Given the description of an element on the screen output the (x, y) to click on. 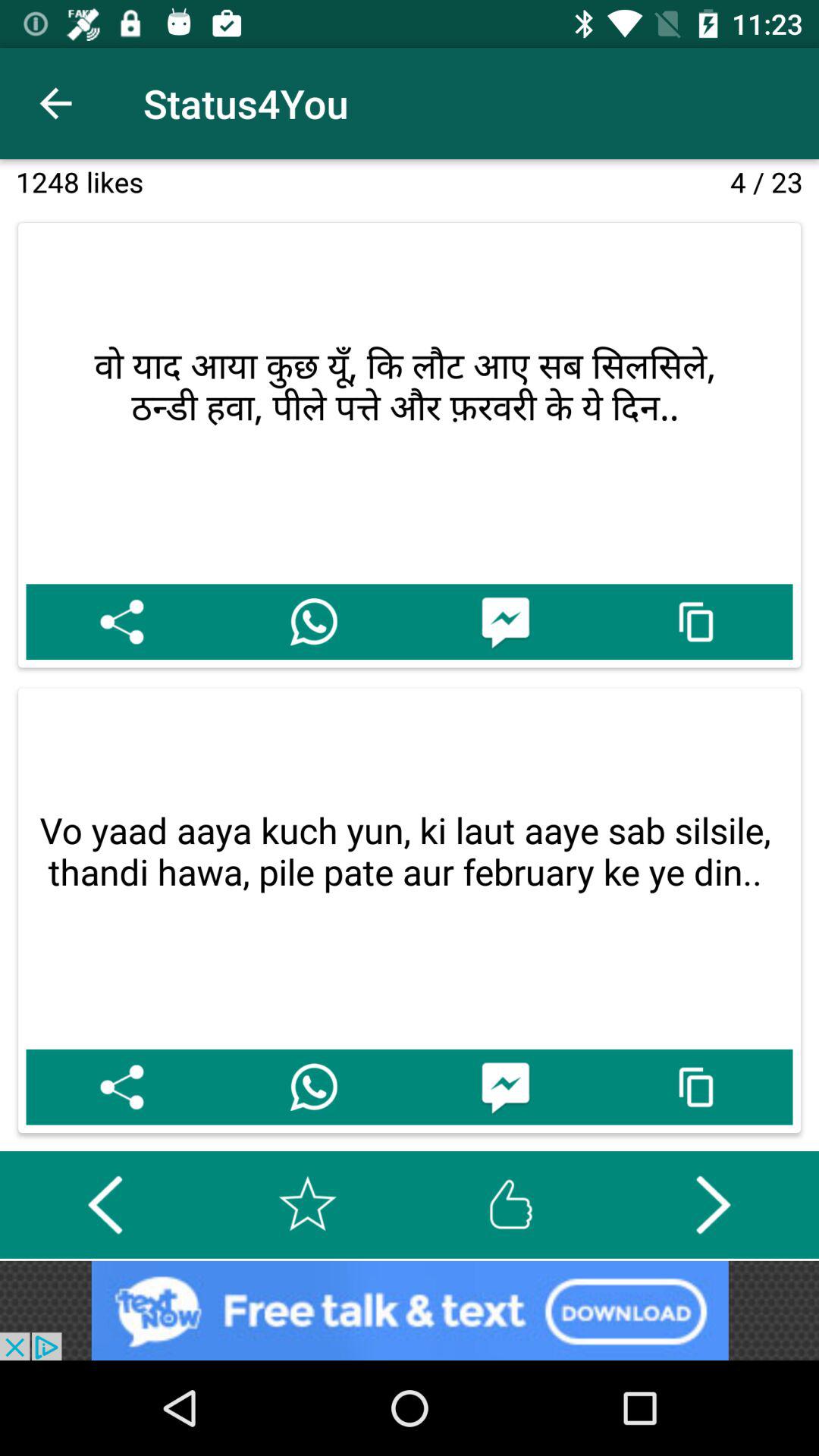
share this (121, 621)
